Given the description of an element on the screen output the (x, y) to click on. 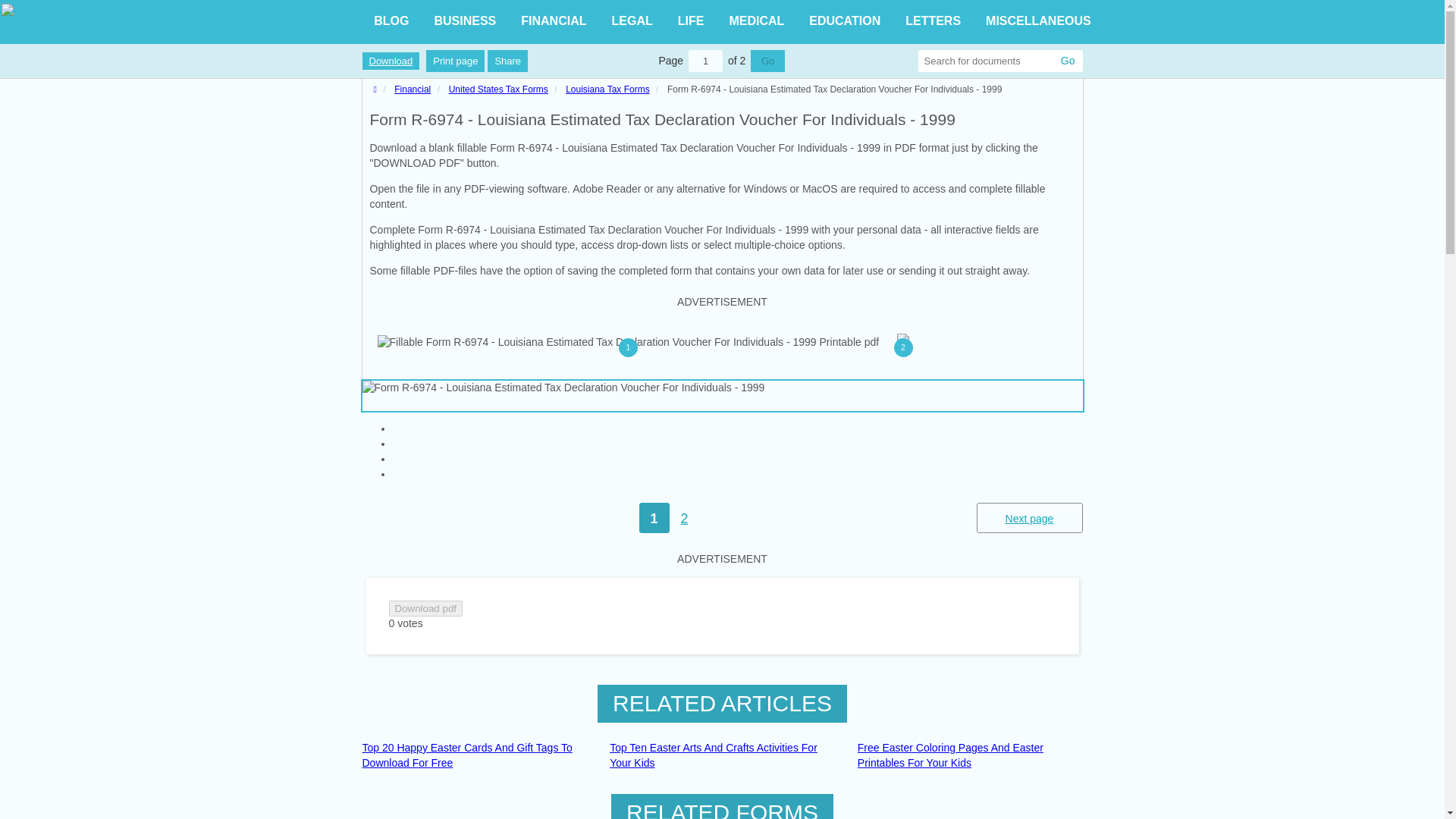
Next page (1029, 517)
1 (705, 60)
Financial (412, 89)
Louisiana Tax Forms (607, 89)
United States Tax Forms (498, 89)
Louisiana Tax Forms (607, 89)
United States Tax Forms (498, 89)
2 (683, 517)
2 (903, 349)
Go (767, 60)
Download pdf (425, 608)
1 (627, 350)
Top Ten Easter Arts And Crafts Activities For Your Kids (722, 755)
